Given the description of an element on the screen output the (x, y) to click on. 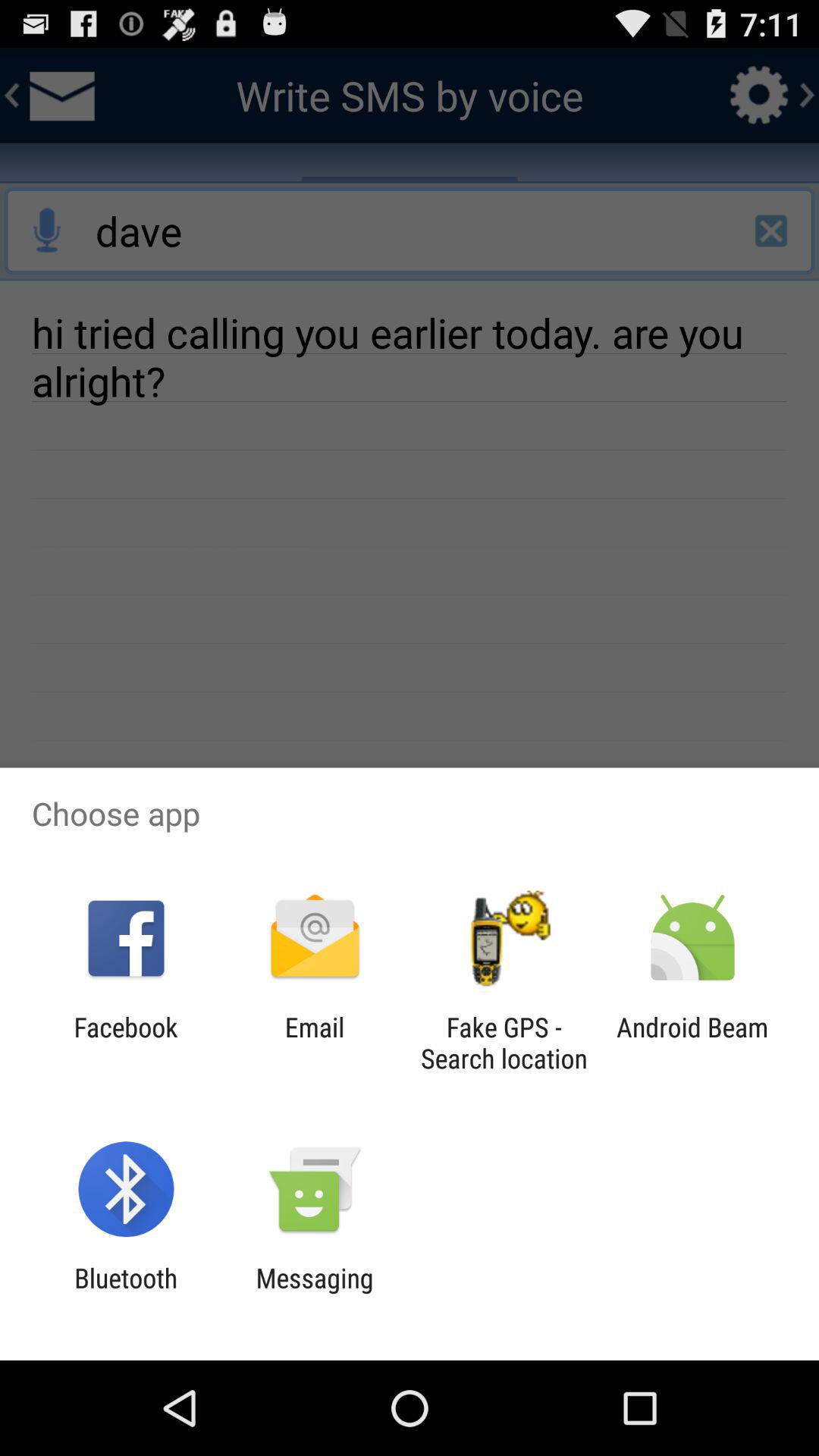
press the app to the left of the android beam app (503, 1042)
